Given the description of an element on the screen output the (x, y) to click on. 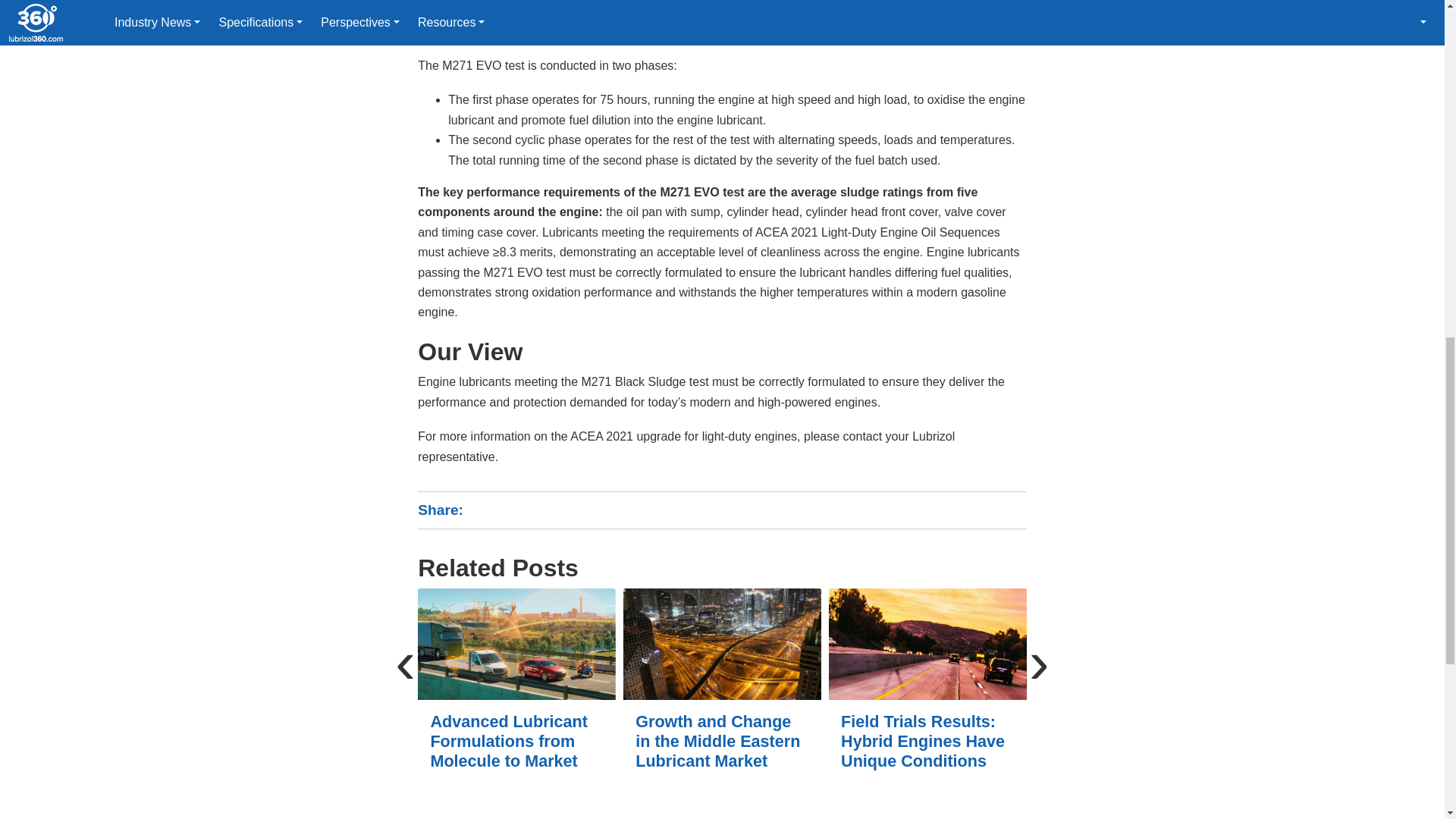
Advanced Lubricant Formulations from Molecule to Market (516, 644)
LATAM hybrid (927, 644)
Growth and Change in the Middle Eastern Lubricant Market (722, 644)
